Given the description of an element on the screen output the (x, y) to click on. 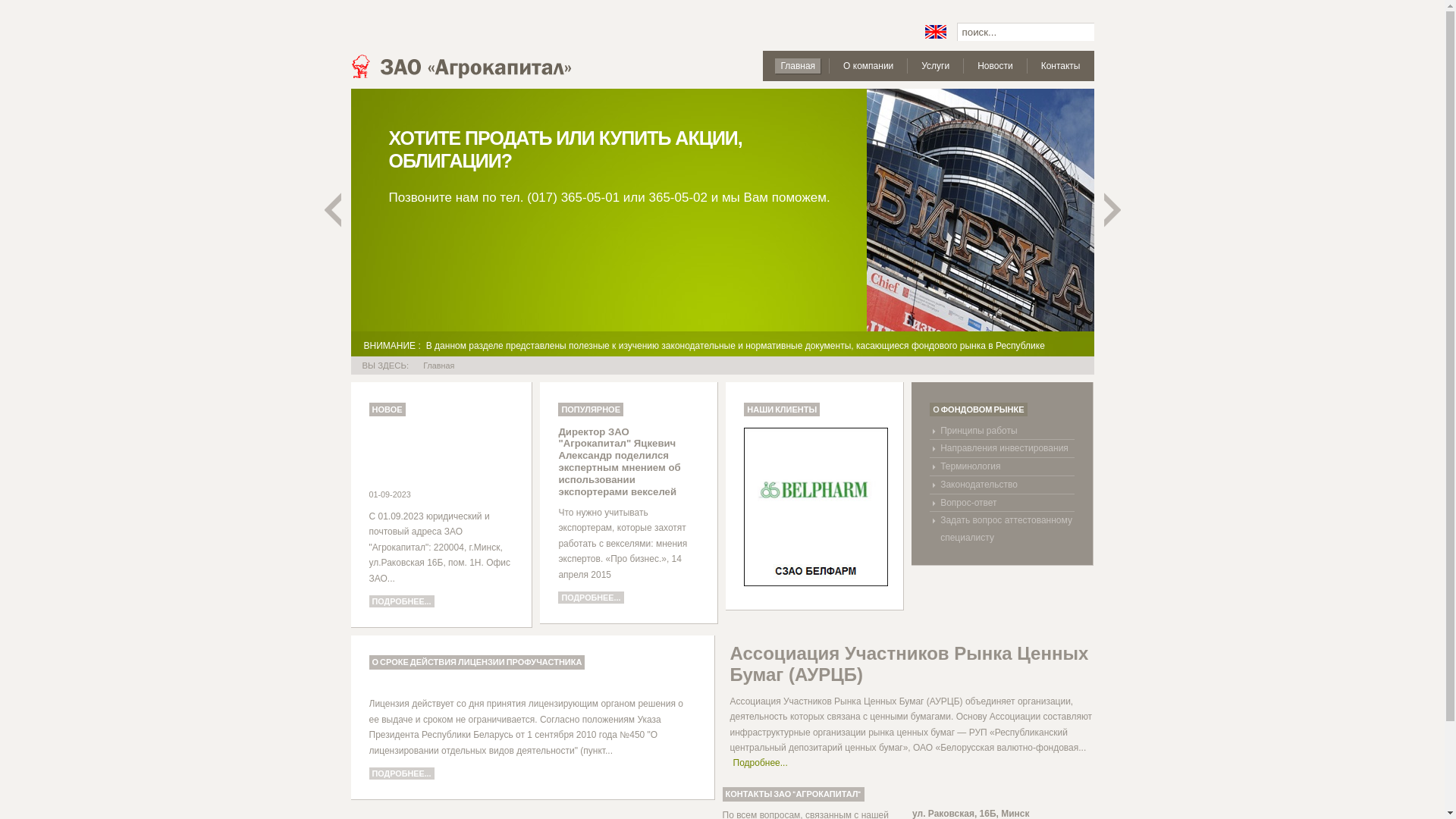
English Element type: hover (935, 31)
belfarm Element type: hover (815, 506)
